Given the description of an element on the screen output the (x, y) to click on. 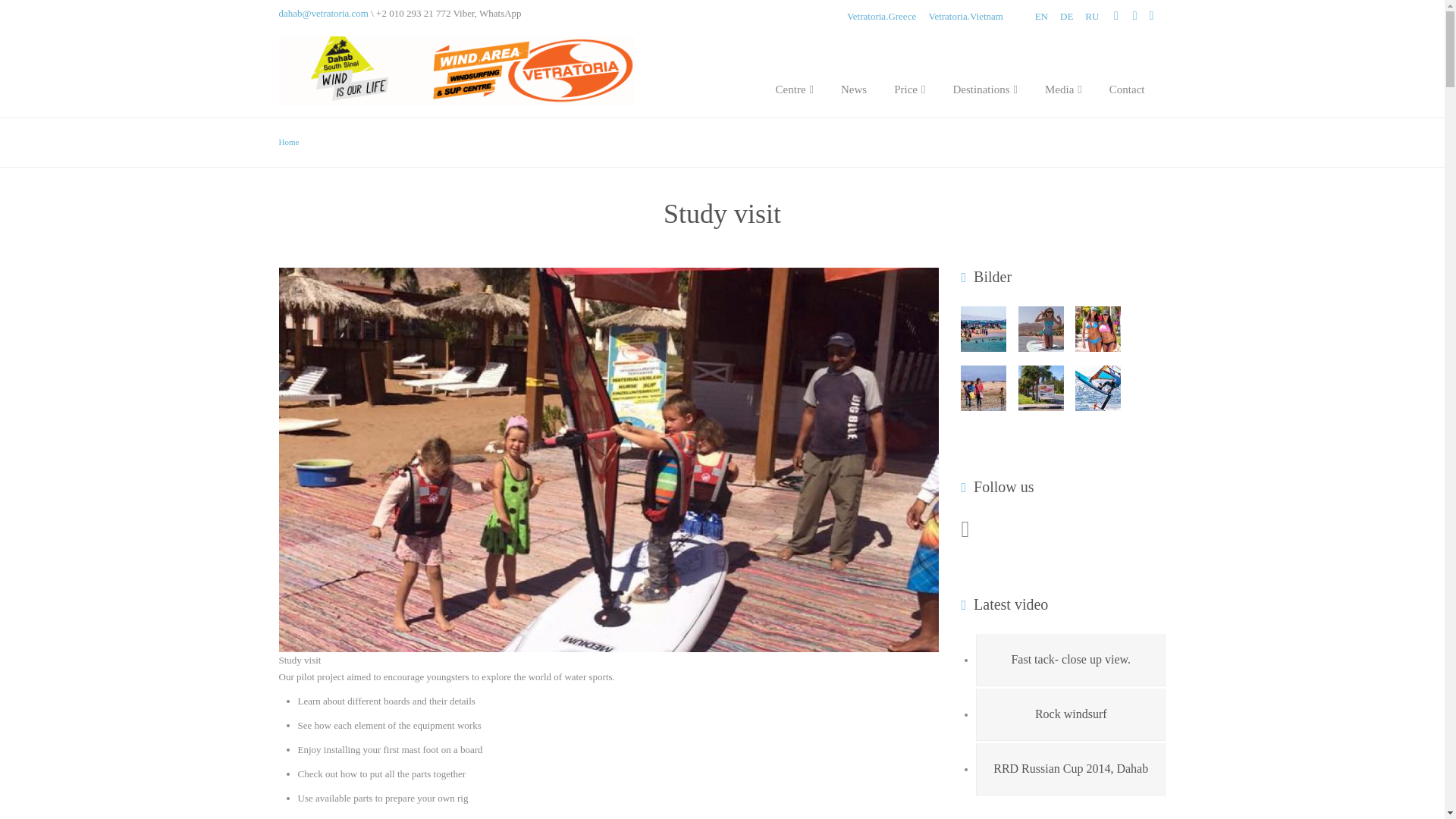
Vetratoria.Greece (881, 16)
Home (289, 141)
Destinations (984, 76)
Vetratoria.Vietnam (965, 16)
